Given the description of an element on the screen output the (x, y) to click on. 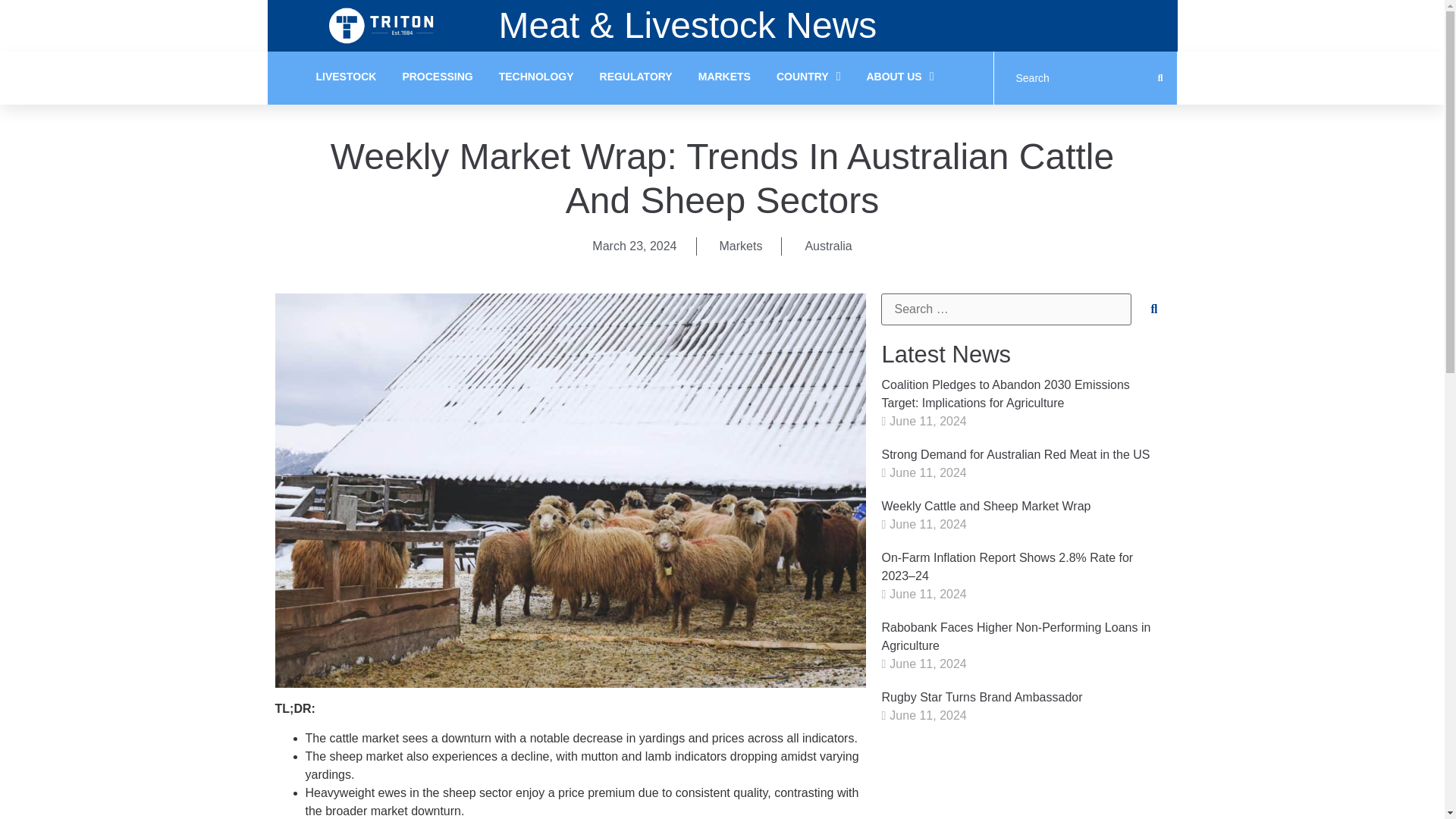
LIVESTOCK (346, 77)
Weekly Cattle and Sheep Market Wrap (985, 505)
March 23, 2024 (634, 246)
COUNTRY (807, 77)
Markets (740, 245)
June 11, 2024 (927, 420)
Strong Demand for Australian Red Meat in the US (1015, 454)
ABOUT US (900, 77)
REGULATORY (635, 77)
